Given the description of an element on the screen output the (x, y) to click on. 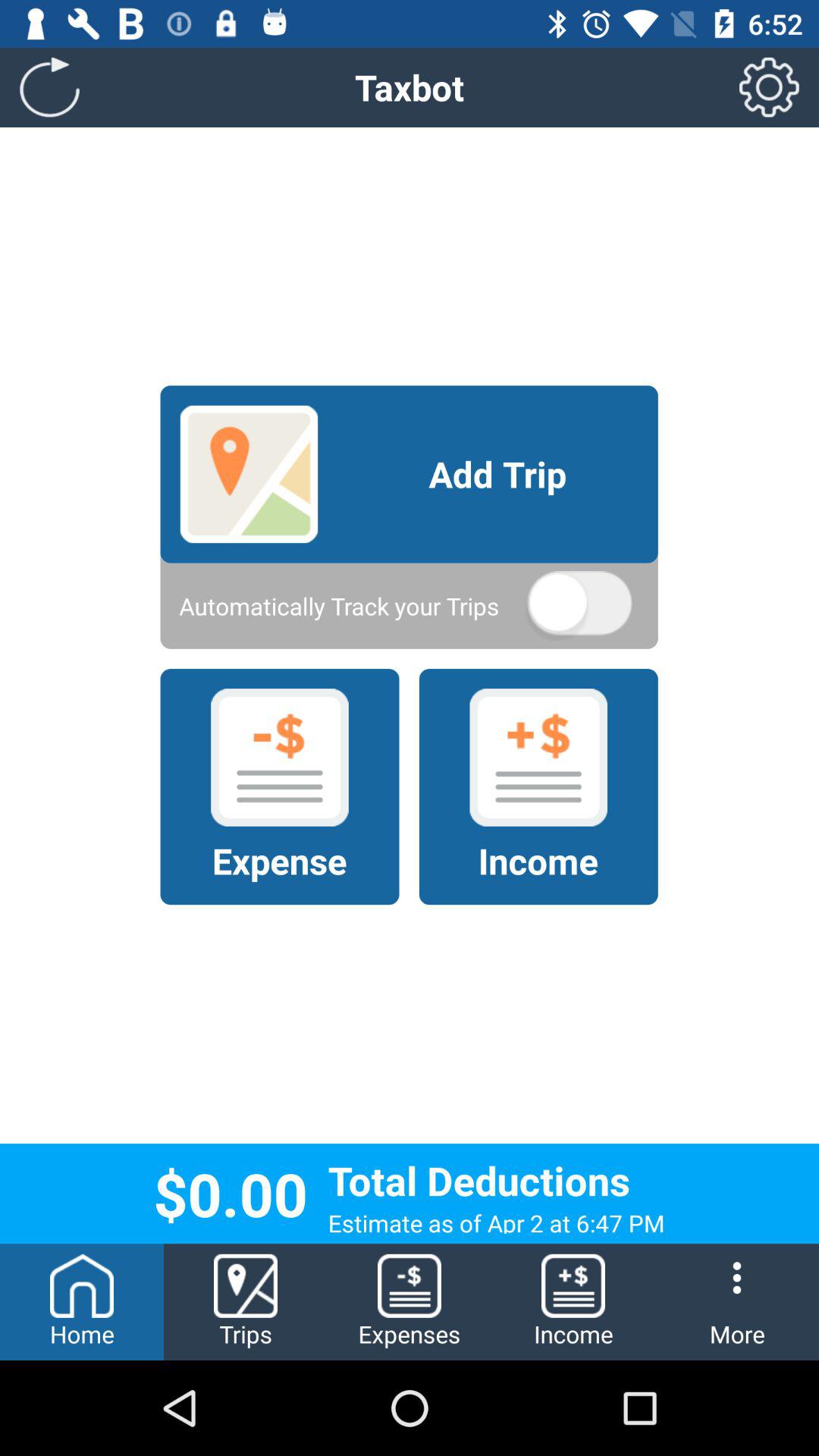
press the app to the right of the automatically track your item (578, 605)
